Given the description of an element on the screen output the (x, y) to click on. 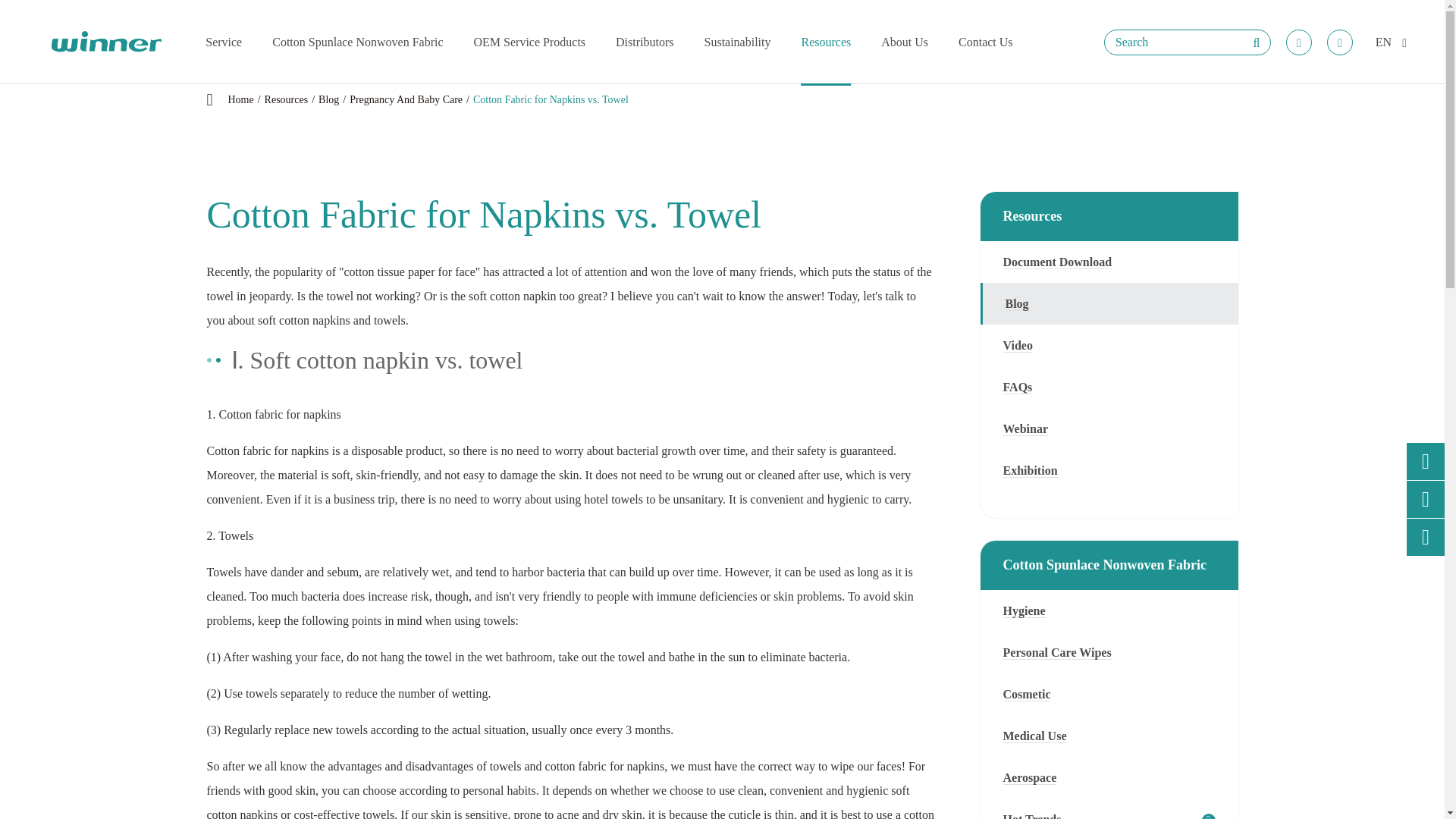
Winner Medical Co., Ltd (104, 42)
86-13148825120 (1298, 42)
Cotton Spunlace Nonwoven Fabric (357, 42)
OEM Service Products (530, 42)
